Given the description of an element on the screen output the (x, y) to click on. 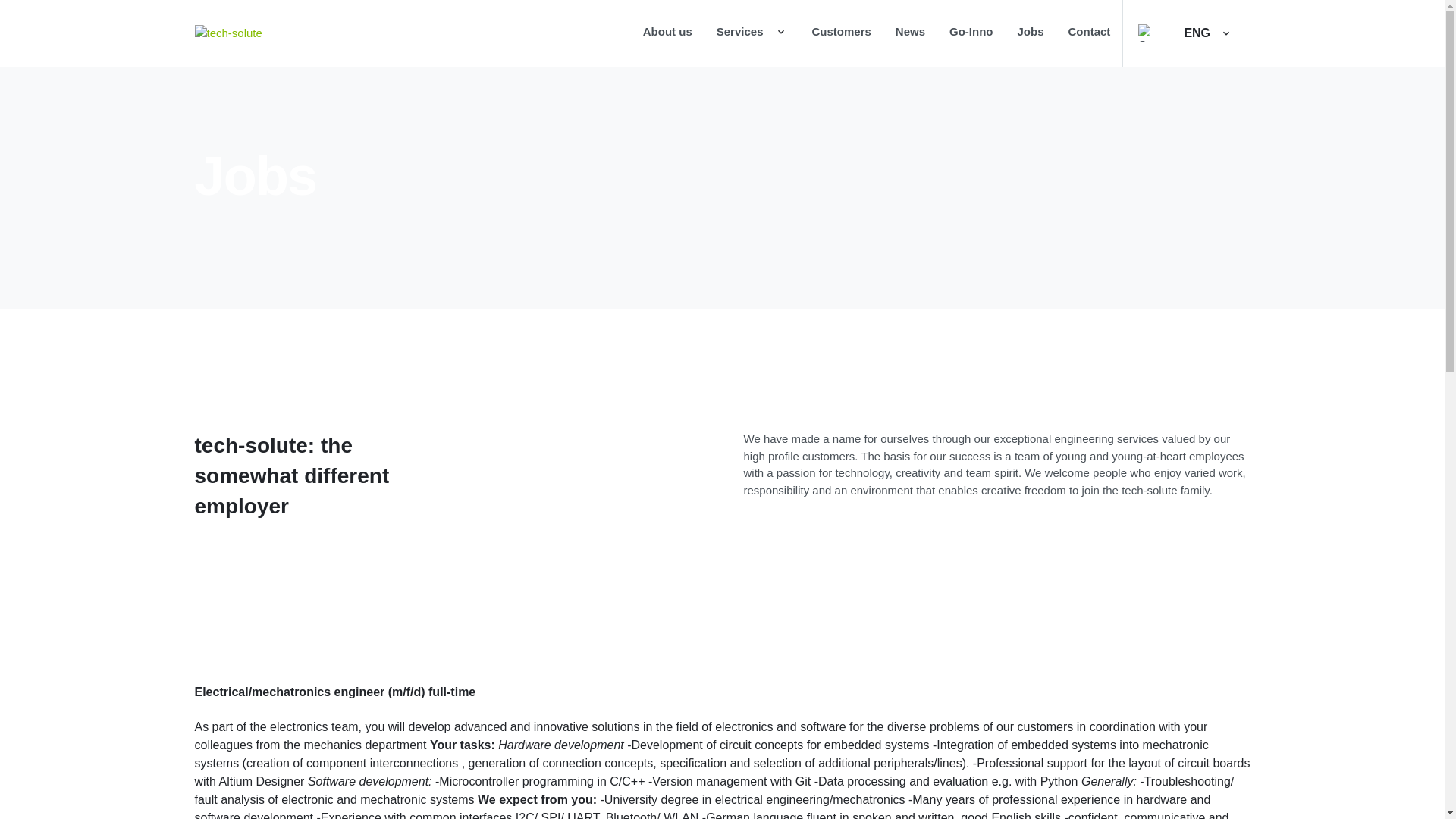
Services (751, 33)
About us (667, 33)
Customers (840, 33)
Contact (1089, 33)
Go-Inno (970, 33)
